Given the description of an element on the screen output the (x, y) to click on. 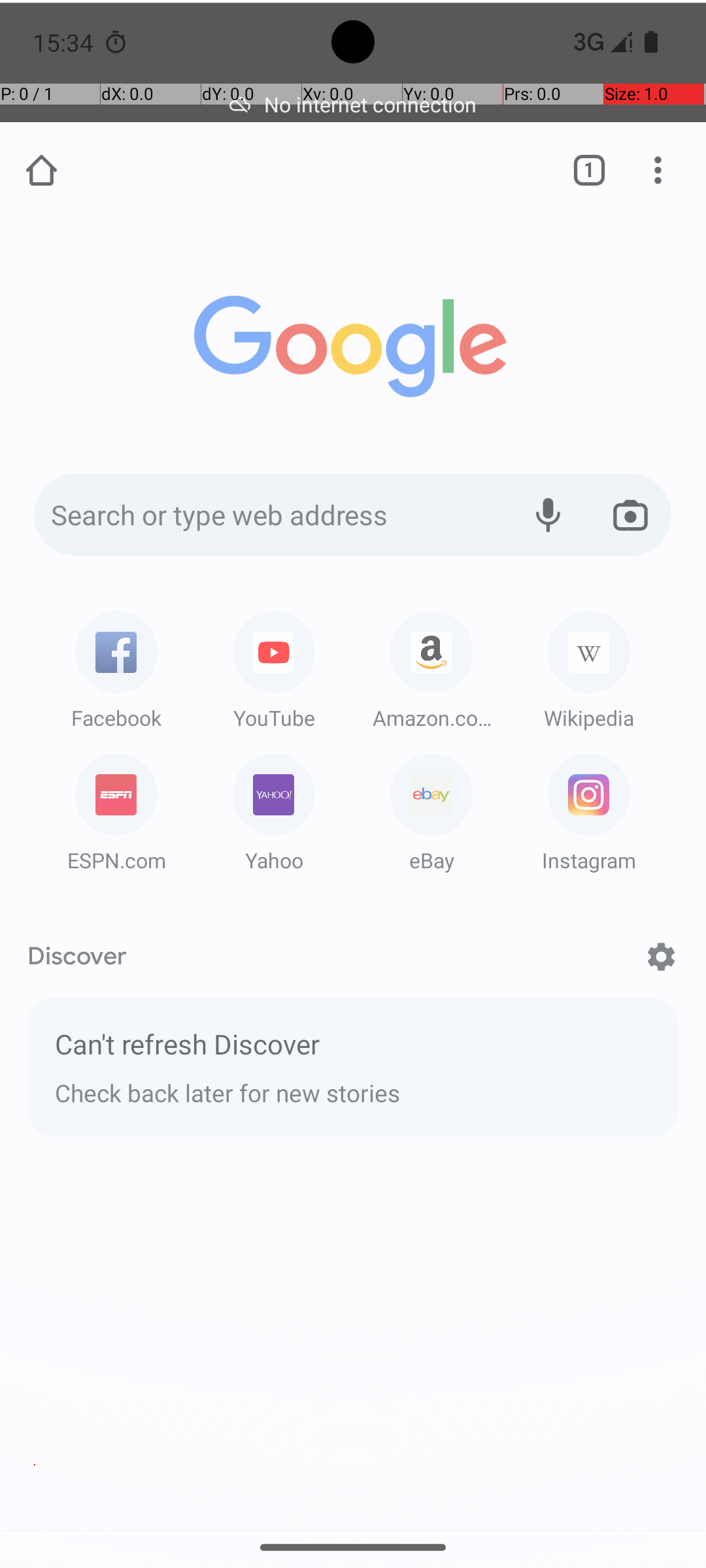
Can't refresh Discover Element type: android.widget.TextView (352, 1047)
Check back later for new stories Element type: android.widget.TextView (352, 1089)
